Given the description of an element on the screen output the (x, y) to click on. 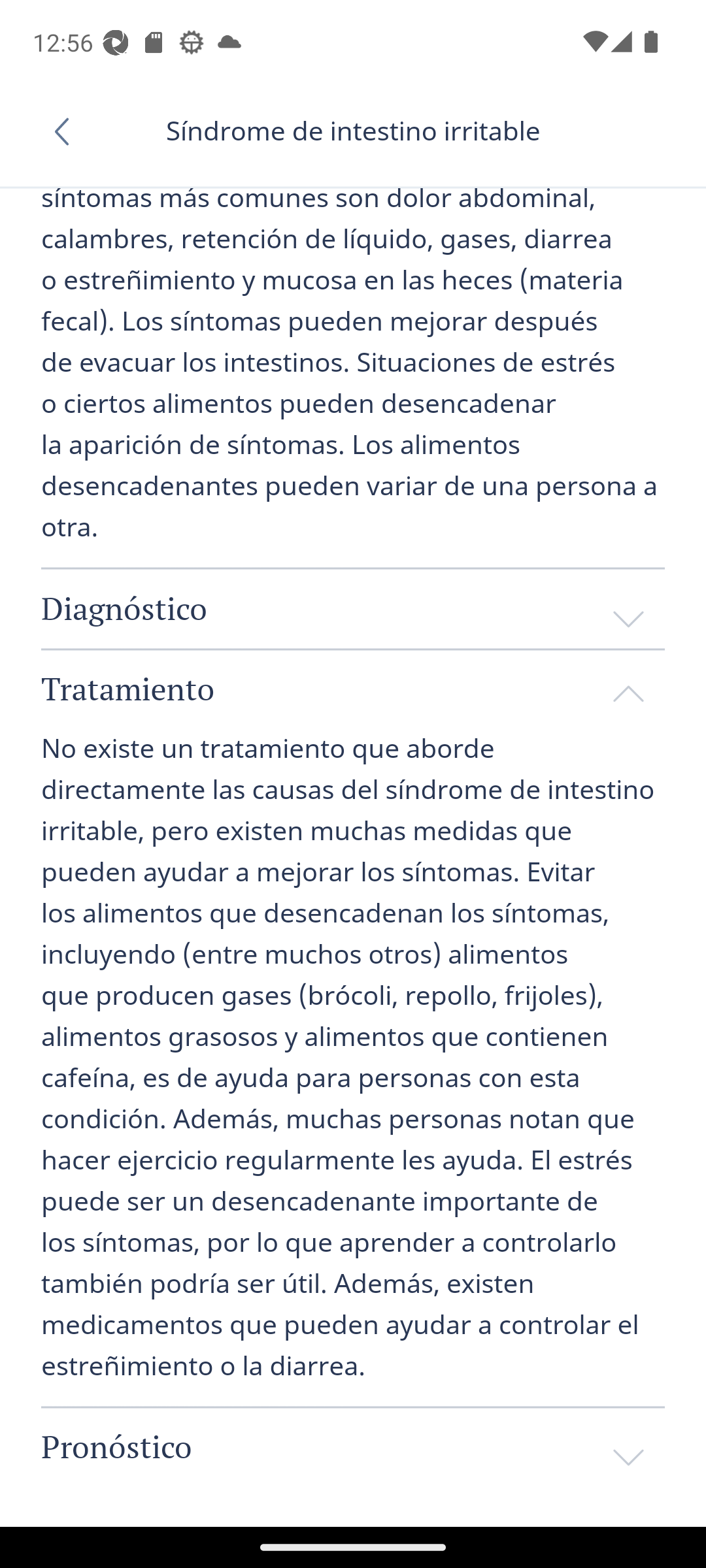
Go back, Navigates to the previous screen (68, 131)
Diagnóstico  (352, 608)
Tratamiento  (352, 688)
Pronóstico  (352, 1447)
